Given the description of an element on the screen output the (x, y) to click on. 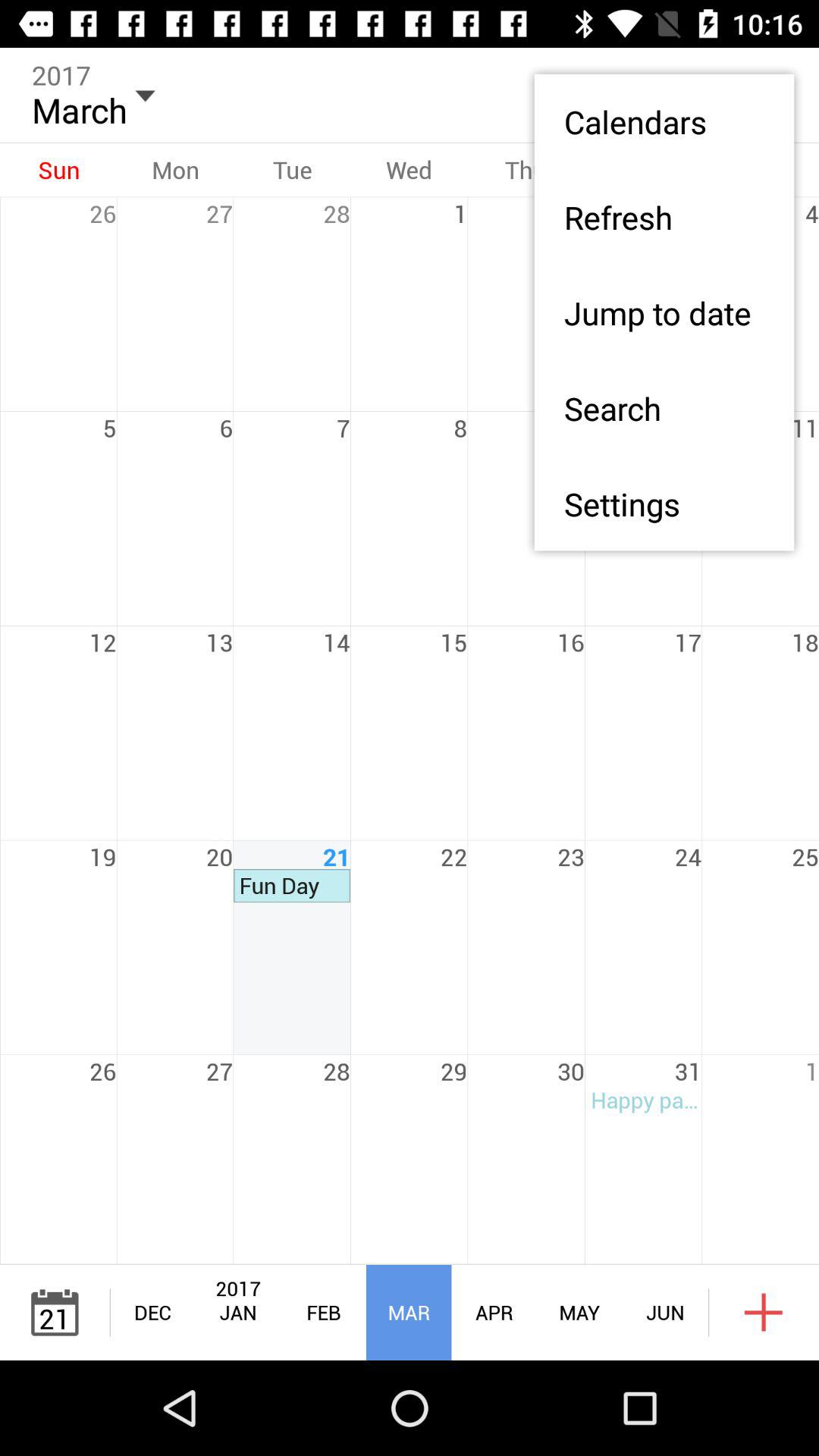
select item above settings item (664, 408)
